Given the description of an element on the screen output the (x, y) to click on. 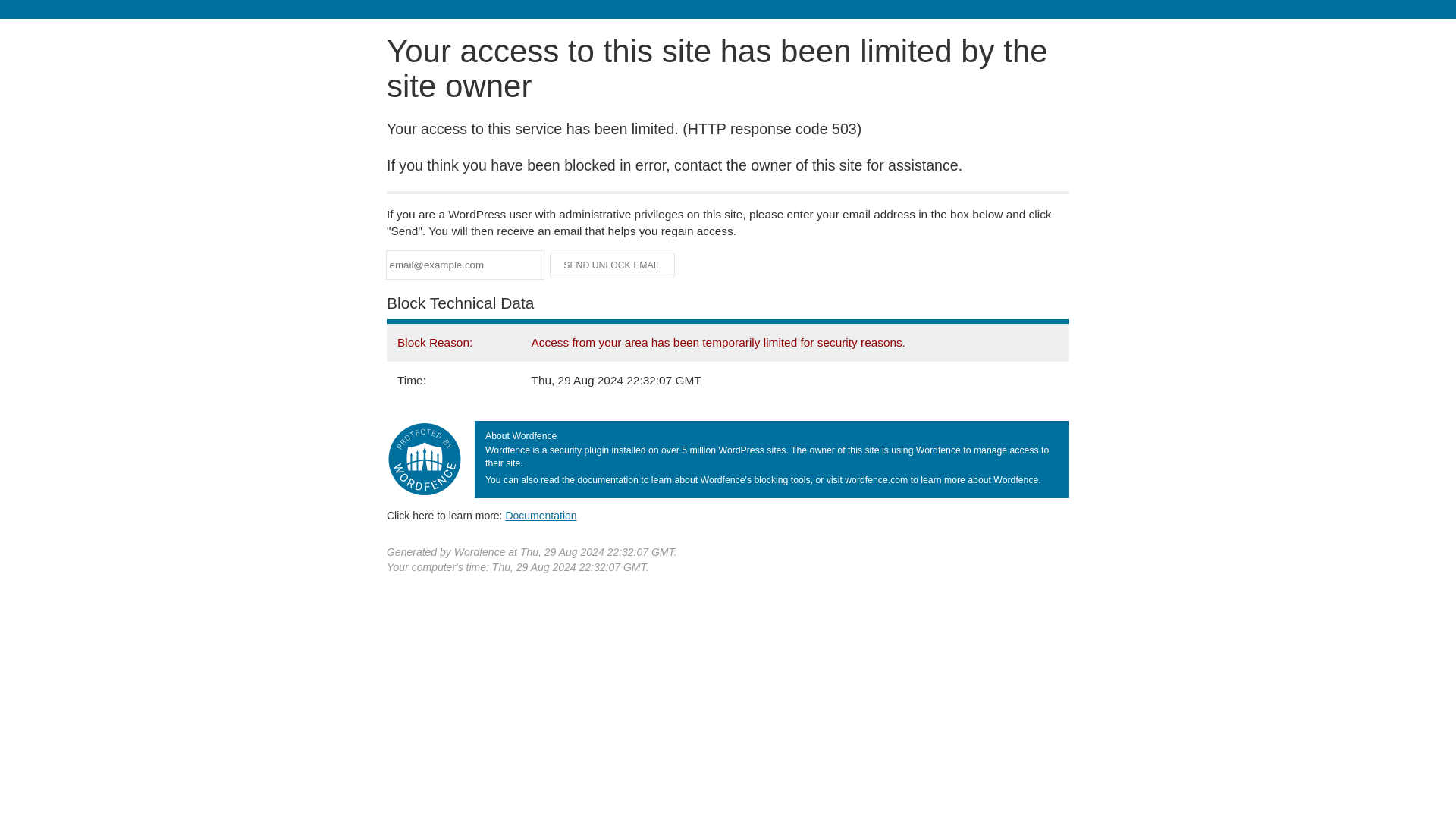
Send Unlock Email (612, 265)
Documentation (540, 515)
Send Unlock Email (612, 265)
